Given the description of an element on the screen output the (x, y) to click on. 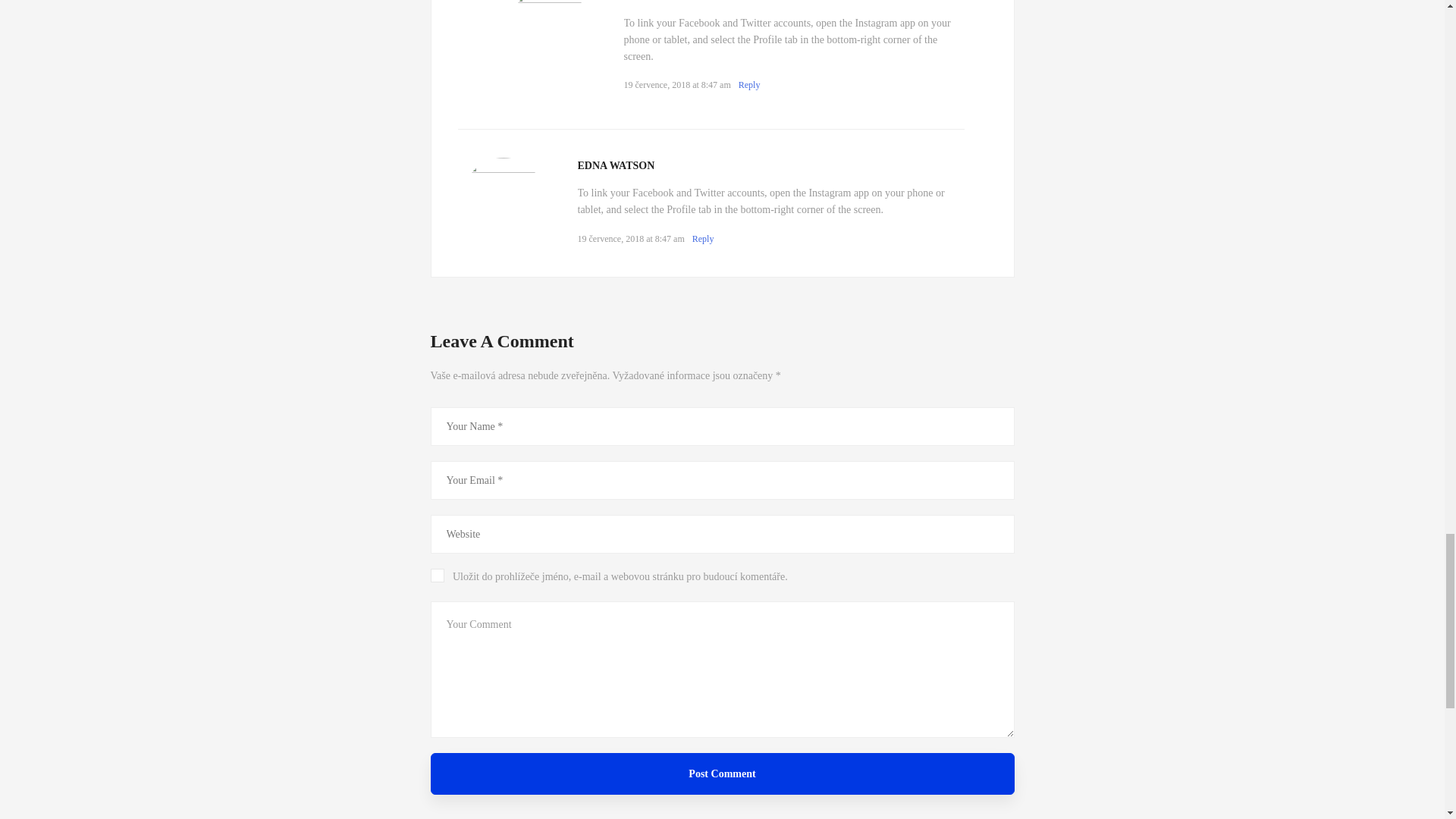
Reply (749, 84)
Post Comment (722, 773)
yes (437, 574)
Post Comment (722, 773)
Reply (703, 238)
